Given the description of an element on the screen output the (x, y) to click on. 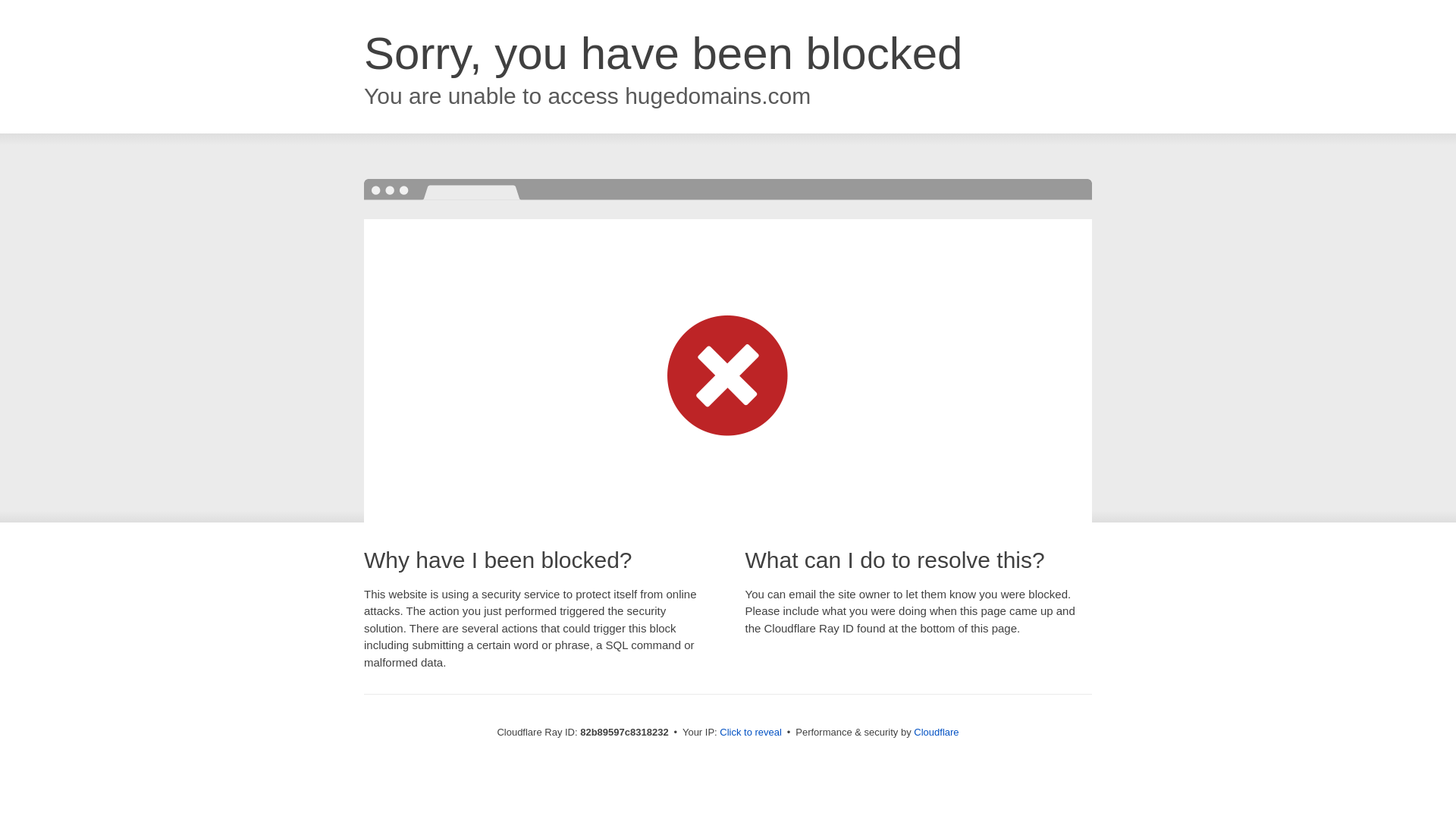
Click to reveal Element type: text (750, 732)
Cloudflare Element type: text (935, 731)
